Given the description of an element on the screen output the (x, y) to click on. 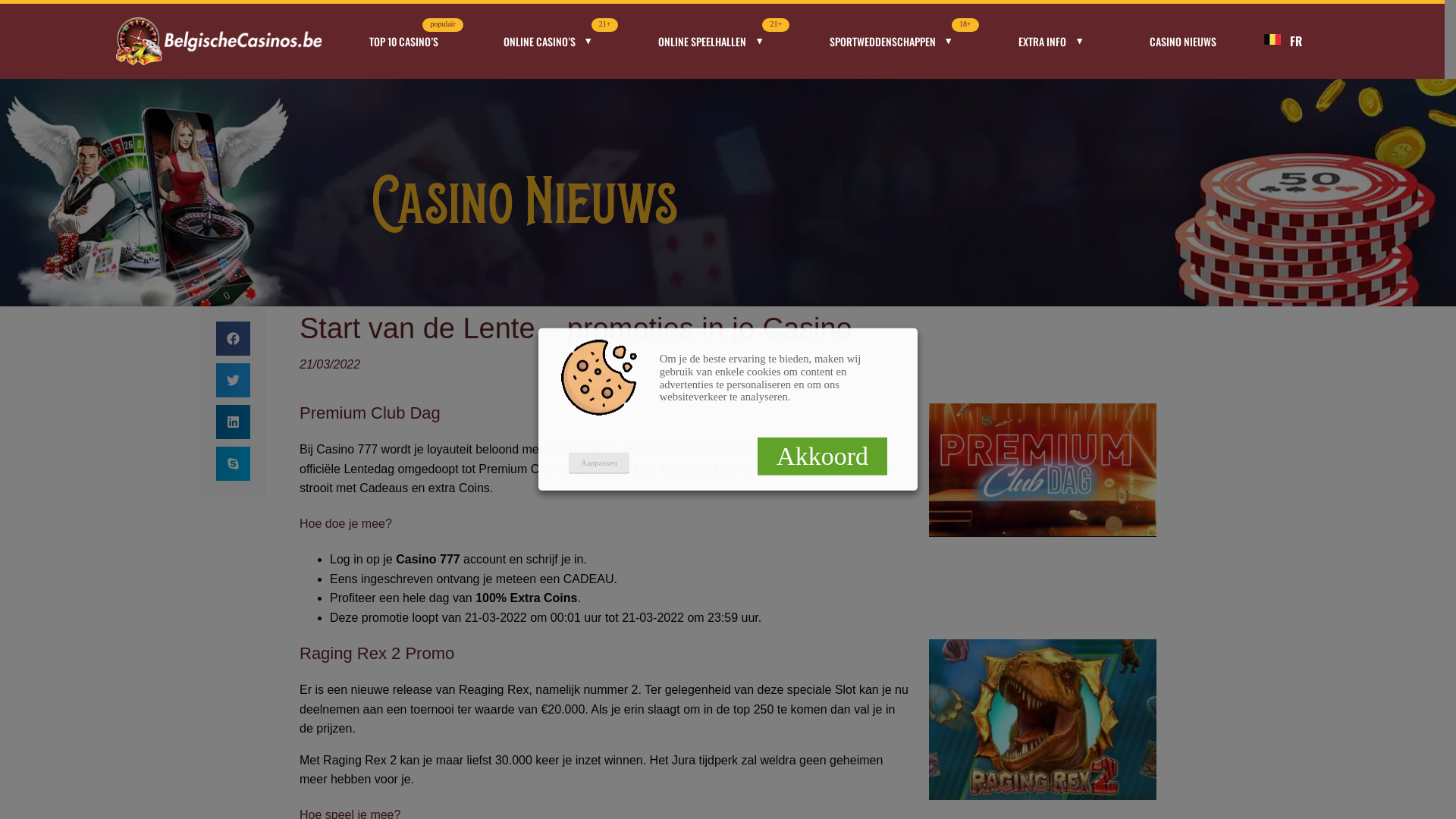
SPORTWEDDENSCHAPPEN
18+ Element type: text (891, 41)
Casino 777 Element type: text (427, 558)
ONLINE SPEELHALLEN
21+ Element type: text (711, 41)
Aanpassen Element type: text (598, 462)
CASINO NIEUWS Element type: text (1182, 41)
EXTRA INFO Element type: text (1051, 41)
Akkoord Element type: text (822, 456)
FR Element type: text (1295, 40)
